Given the description of an element on the screen output the (x, y) to click on. 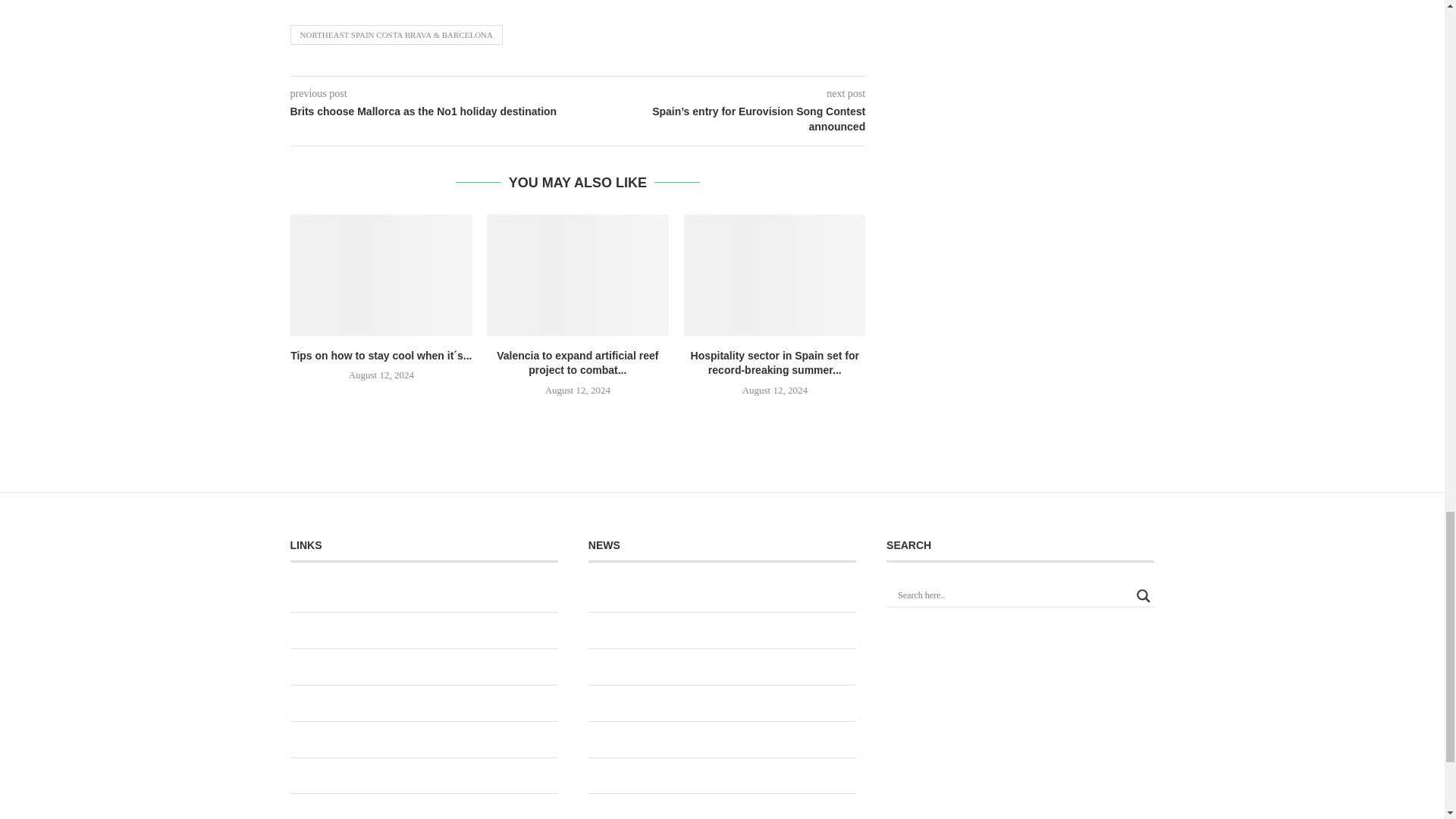
Brits choose Mallorca as the No1 holiday destination (432, 111)
